Given the description of an element on the screen output the (x, y) to click on. 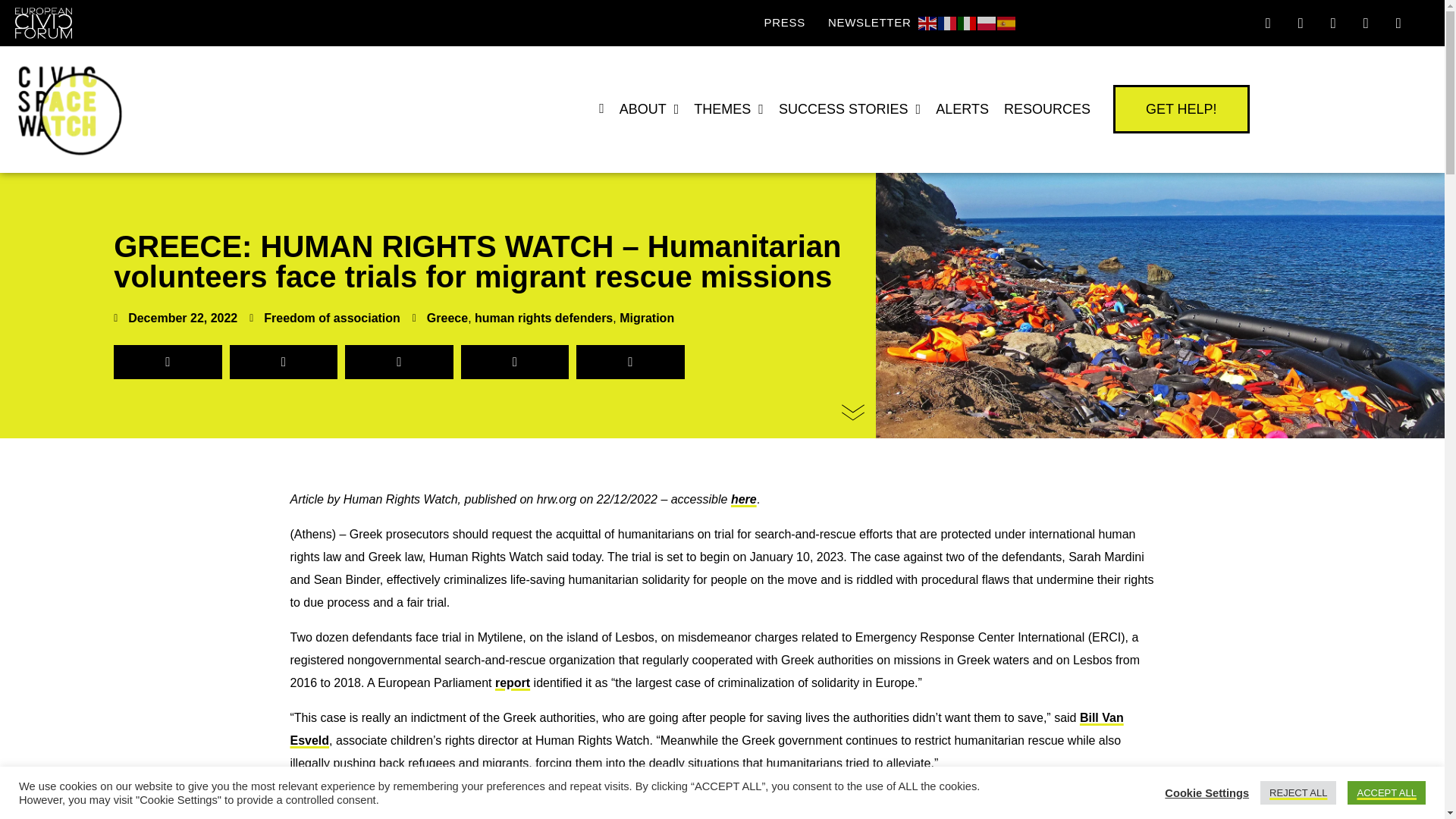
Polish (986, 21)
NEWSLETTER (869, 22)
ABOUT (649, 108)
Italian (967, 21)
Spanish (1006, 21)
English (927, 21)
THEMES (728, 108)
French (947, 21)
PRESS (784, 22)
